Given the description of an element on the screen output the (x, y) to click on. 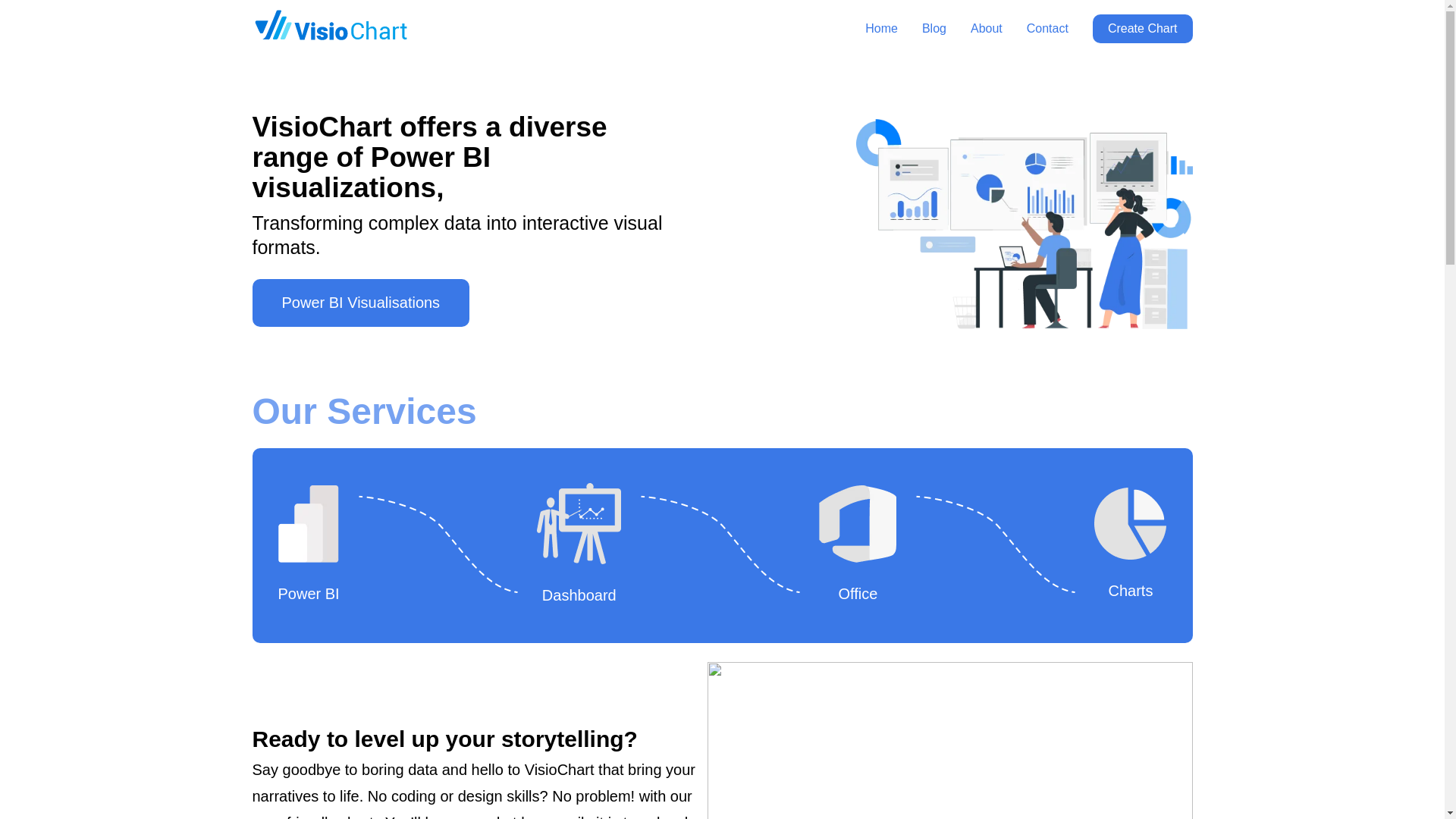
Blog (933, 29)
Home (881, 29)
Power BI Visualisations (359, 303)
Power BI Visualisations (359, 302)
